Given the description of an element on the screen output the (x, y) to click on. 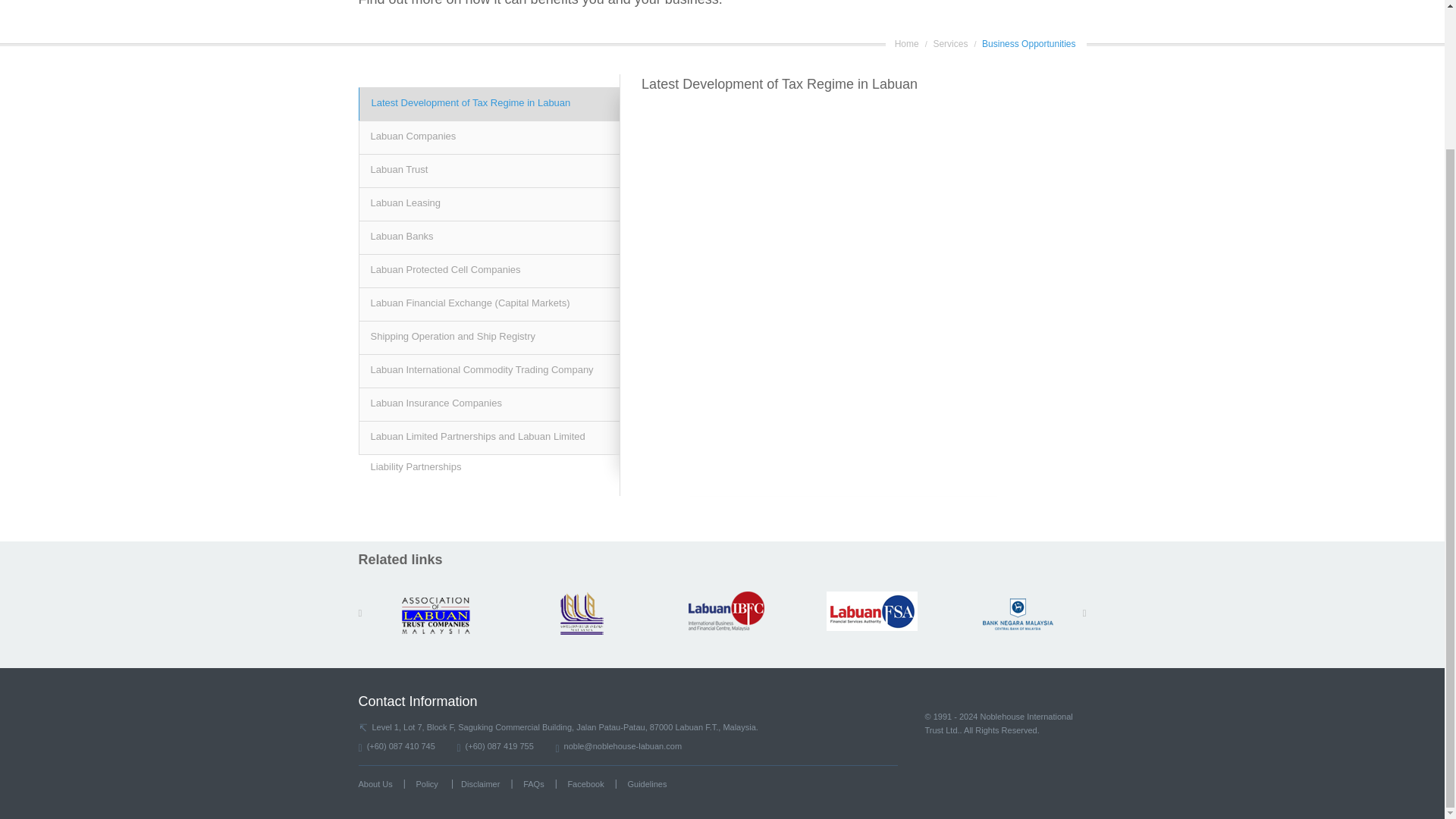
Business Opportunities (1028, 43)
Labuan Banks (489, 236)
Labuan Companies (489, 136)
Labuan Trust (489, 170)
Labuan Leasing (489, 203)
Labuan Protected Cell Companies (489, 270)
Services (950, 43)
Labuan Insurance Companies (489, 403)
Home (906, 43)
Shipping Operation and Ship Registry (489, 337)
Labuan International Commodity Trading Company (489, 370)
Latest Development of Tax Regime in Labuan (489, 103)
